Given the description of an element on the screen output the (x, y) to click on. 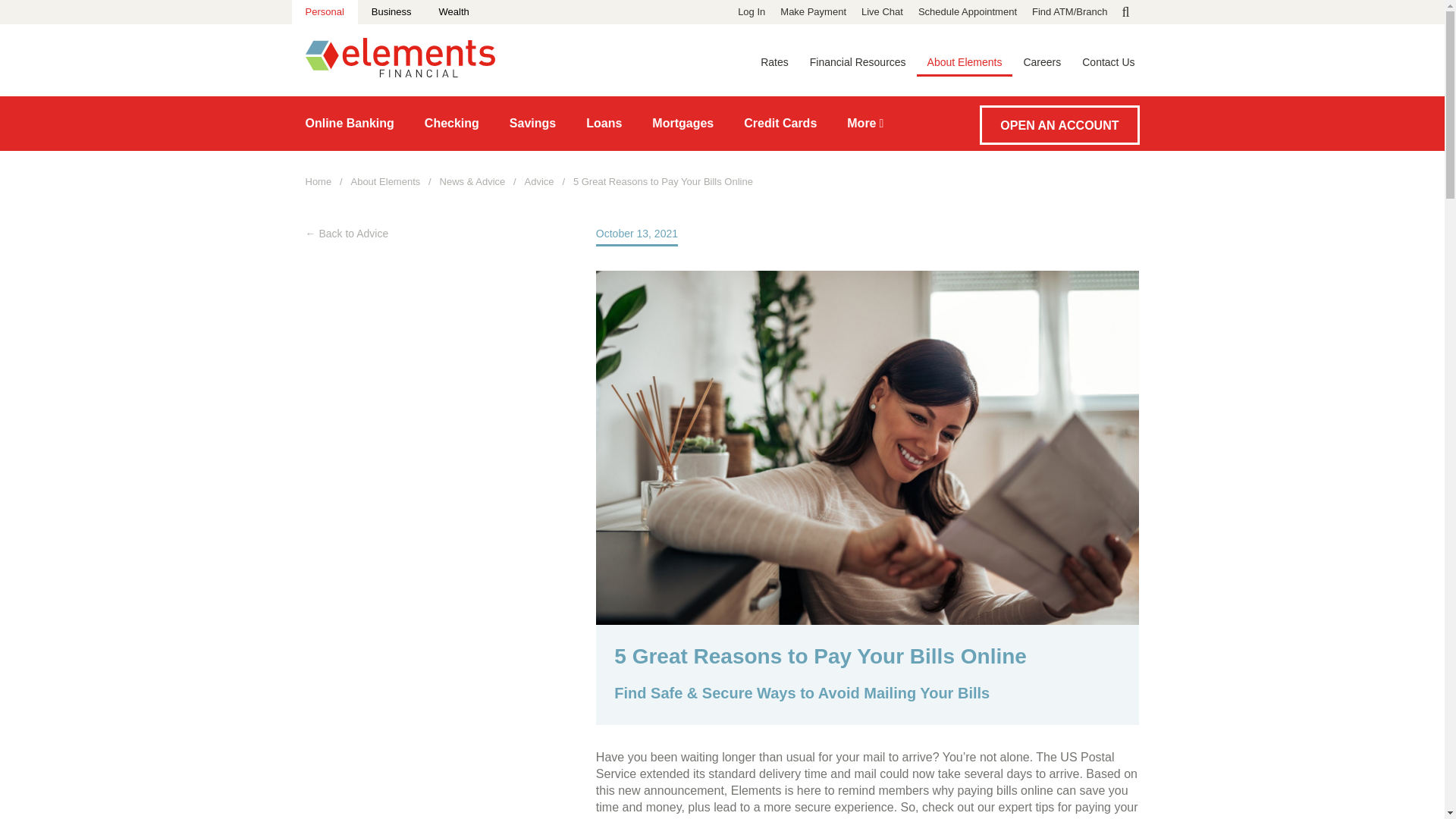
Home (399, 72)
Wealth (454, 12)
Personal (323, 12)
Online Banking (349, 123)
Checking (452, 123)
Savings (532, 123)
Business (391, 12)
